Given the description of an element on the screen output the (x, y) to click on. 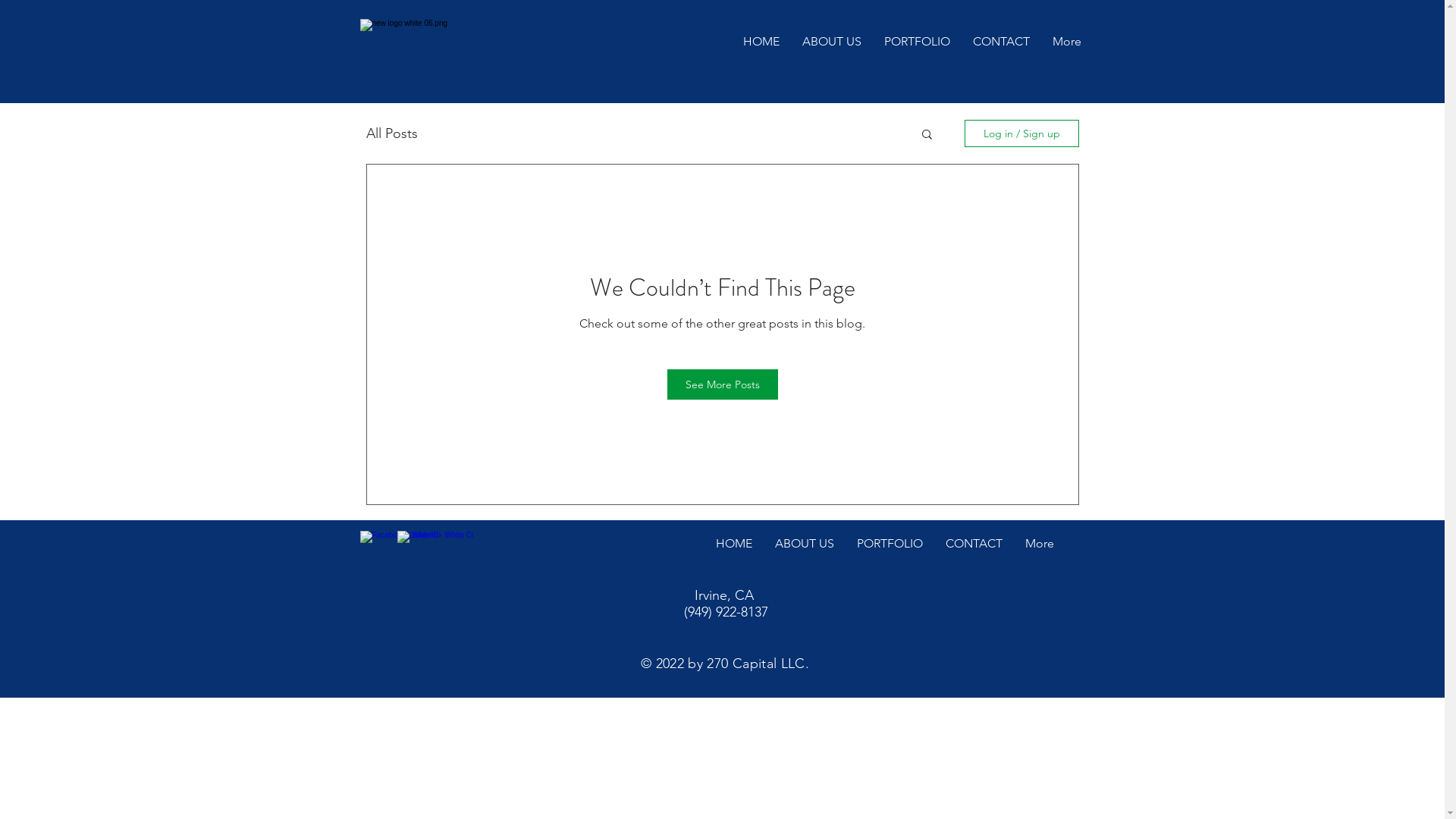
ABOUT US Element type: text (831, 48)
See More Posts Element type: text (722, 384)
PORTFOLIO Element type: text (888, 545)
Log in / Sign up Element type: text (1021, 133)
CONTACT Element type: text (973, 545)
All Posts Element type: text (391, 133)
HOME Element type: text (760, 48)
ABOUT US Element type: text (803, 545)
CONTACT Element type: text (1001, 48)
HOME Element type: text (732, 545)
PORTFOLIO Element type: text (916, 48)
